Given the description of an element on the screen output the (x, y) to click on. 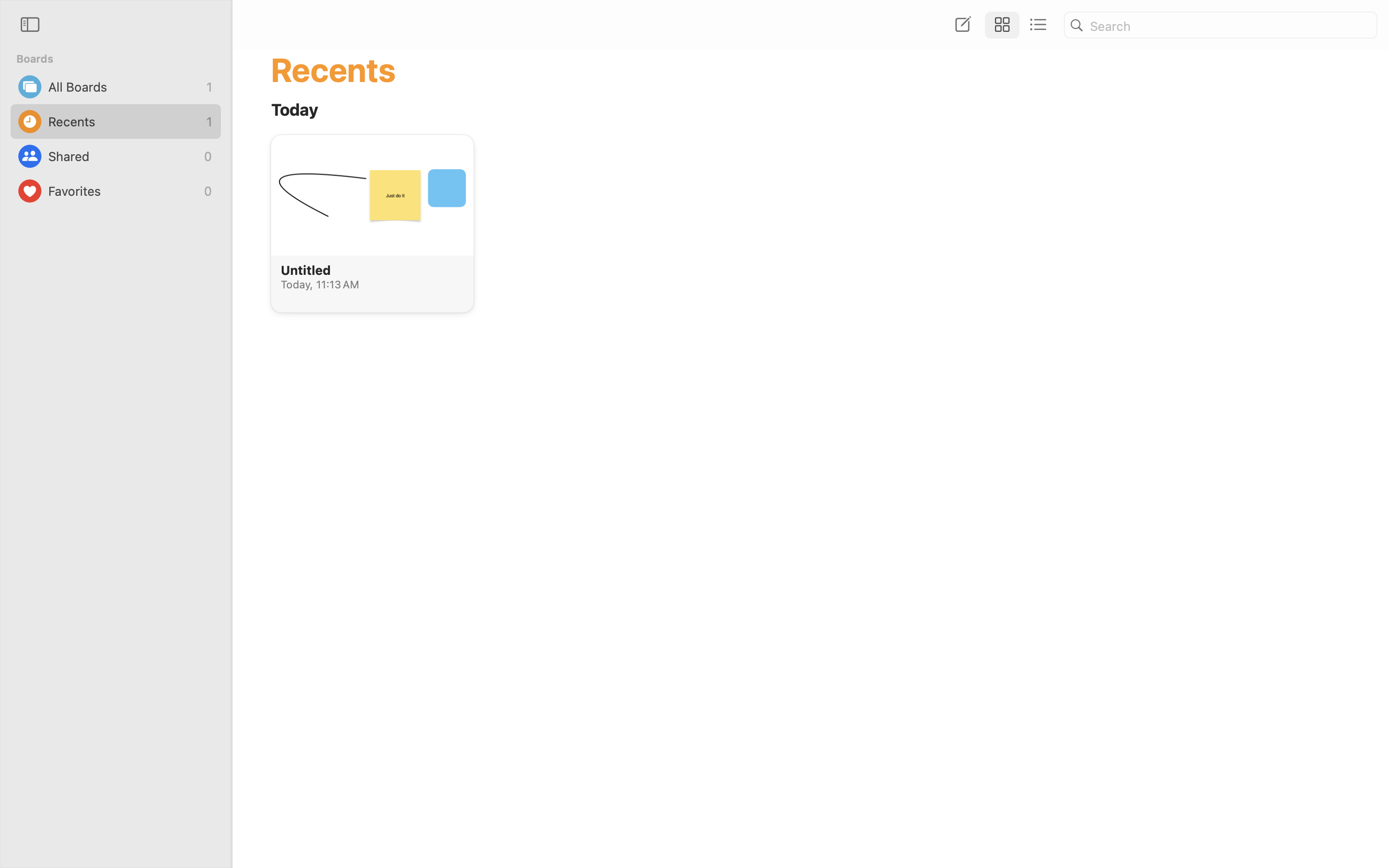
Shared Element type: AXStaticText (123, 155)
All Boards Element type: AXStaticText (124, 86)
